Given the description of an element on the screen output the (x, y) to click on. 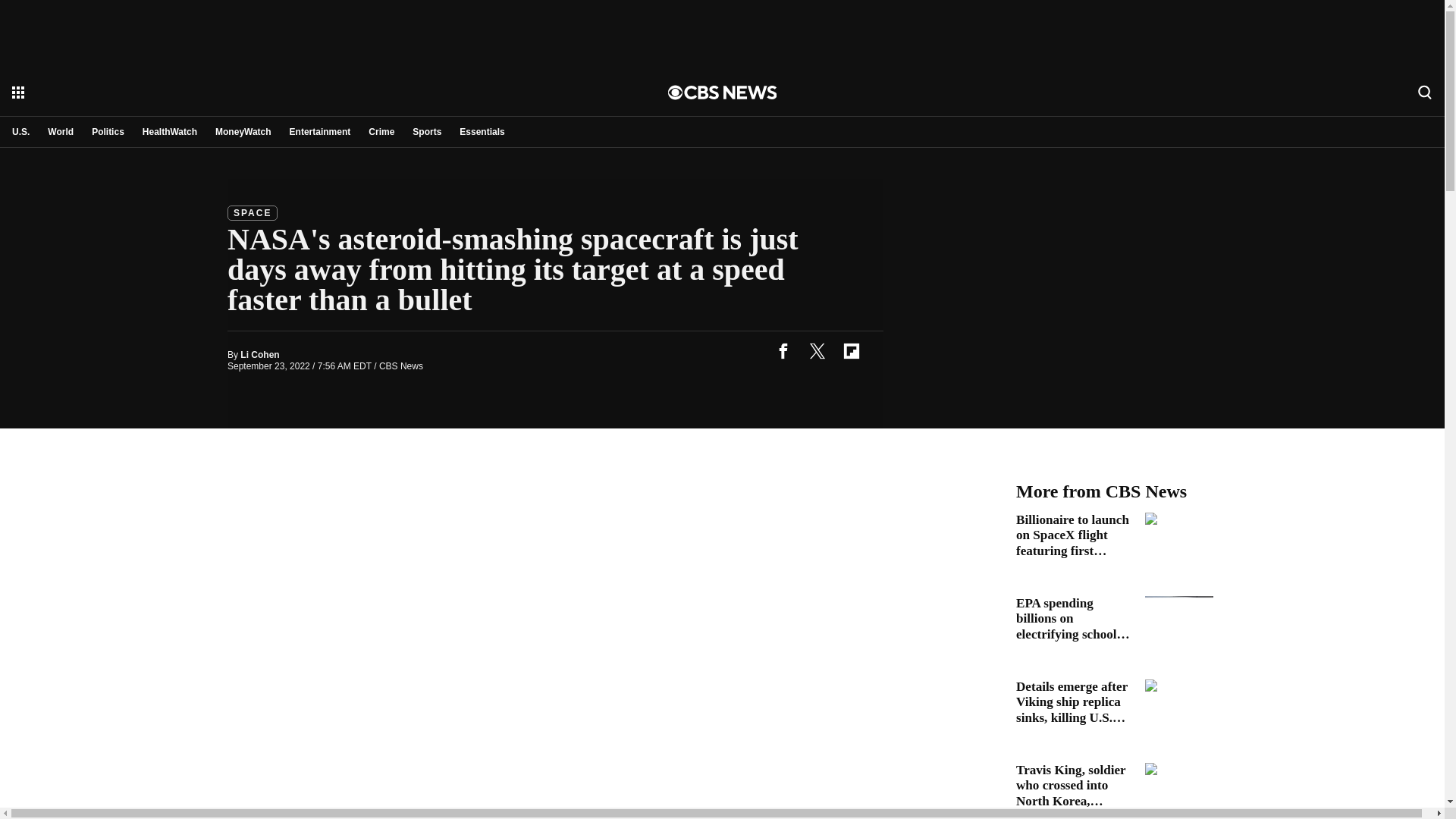
flipboard (850, 350)
facebook (782, 350)
twitter (816, 350)
